Given the description of an element on the screen output the (x, y) to click on. 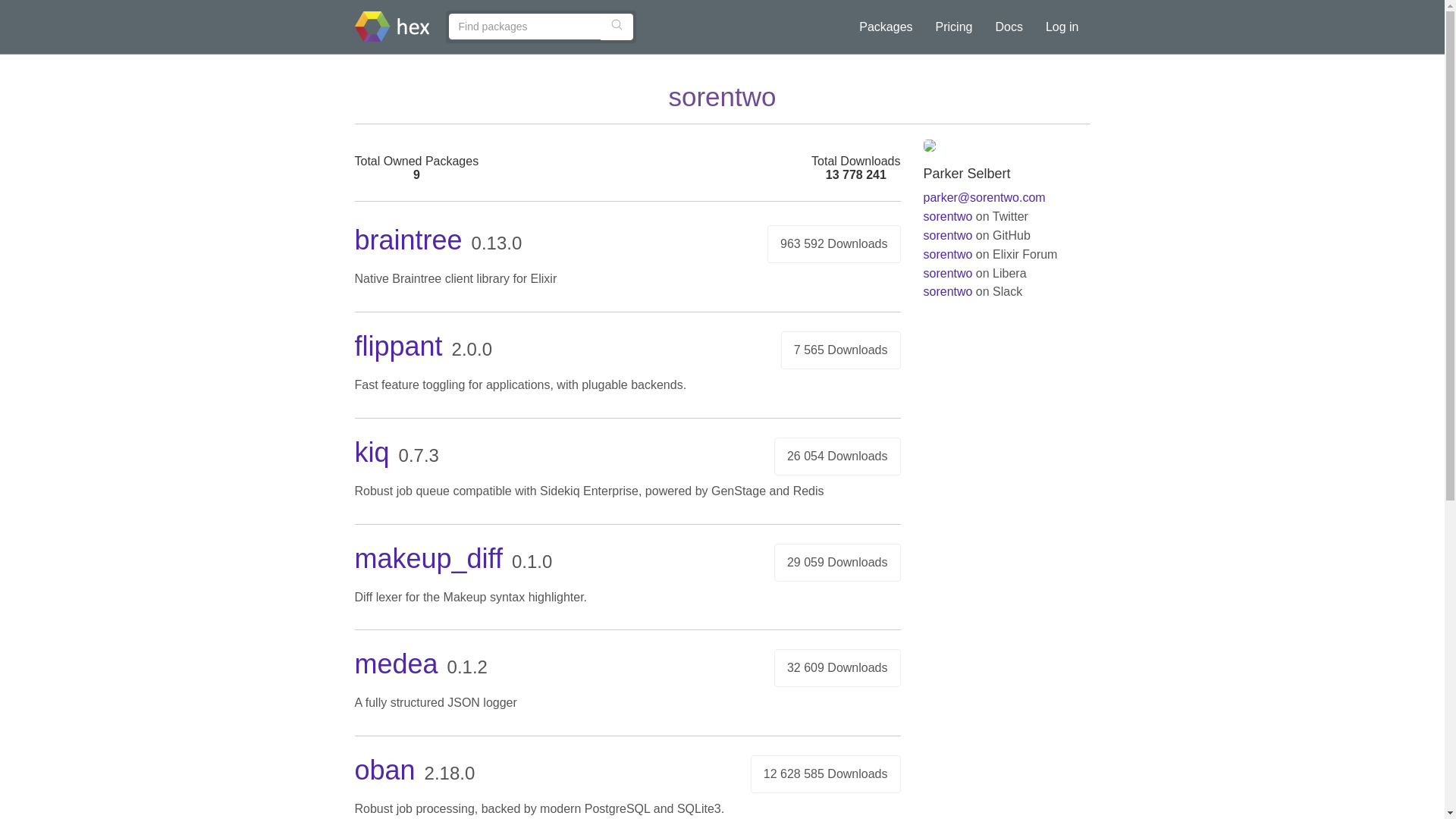
kiq (372, 451)
sorentwo (947, 273)
sorentwo (947, 215)
oban (384, 769)
Docs (1008, 26)
sorentwo (947, 291)
Packages (885, 26)
medea (396, 663)
braintree (409, 239)
magnifying-glass (616, 24)
